Given the description of an element on the screen output the (x, y) to click on. 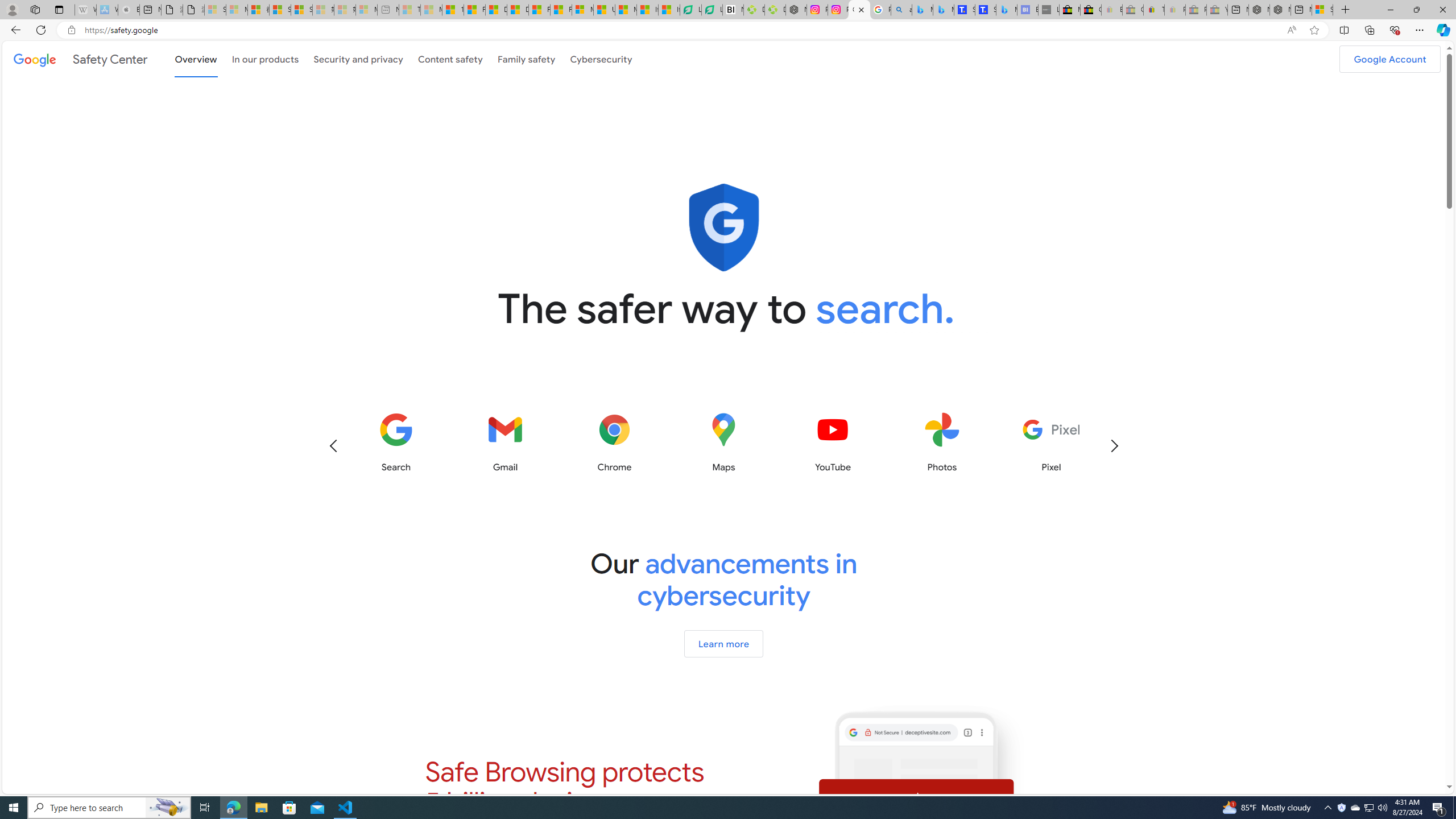
Security and privacy (357, 58)
Descarga Driver Updater (775, 9)
Yard, Garden & Outdoor Living - Sleeping (1216, 9)
Food and Drink - MSN (474, 9)
Top Stories - MSN - Sleeping (409, 9)
Nordace - Nordace Edin Collection (795, 9)
Nordace - Summer Adventures 2024 (1280, 9)
Payments Terms of Use | eBay.com - Sleeping (1174, 9)
Threats and offensive language policy | eBay (1153, 9)
Security and privacy (357, 58)
